Given the description of an element on the screen output the (x, y) to click on. 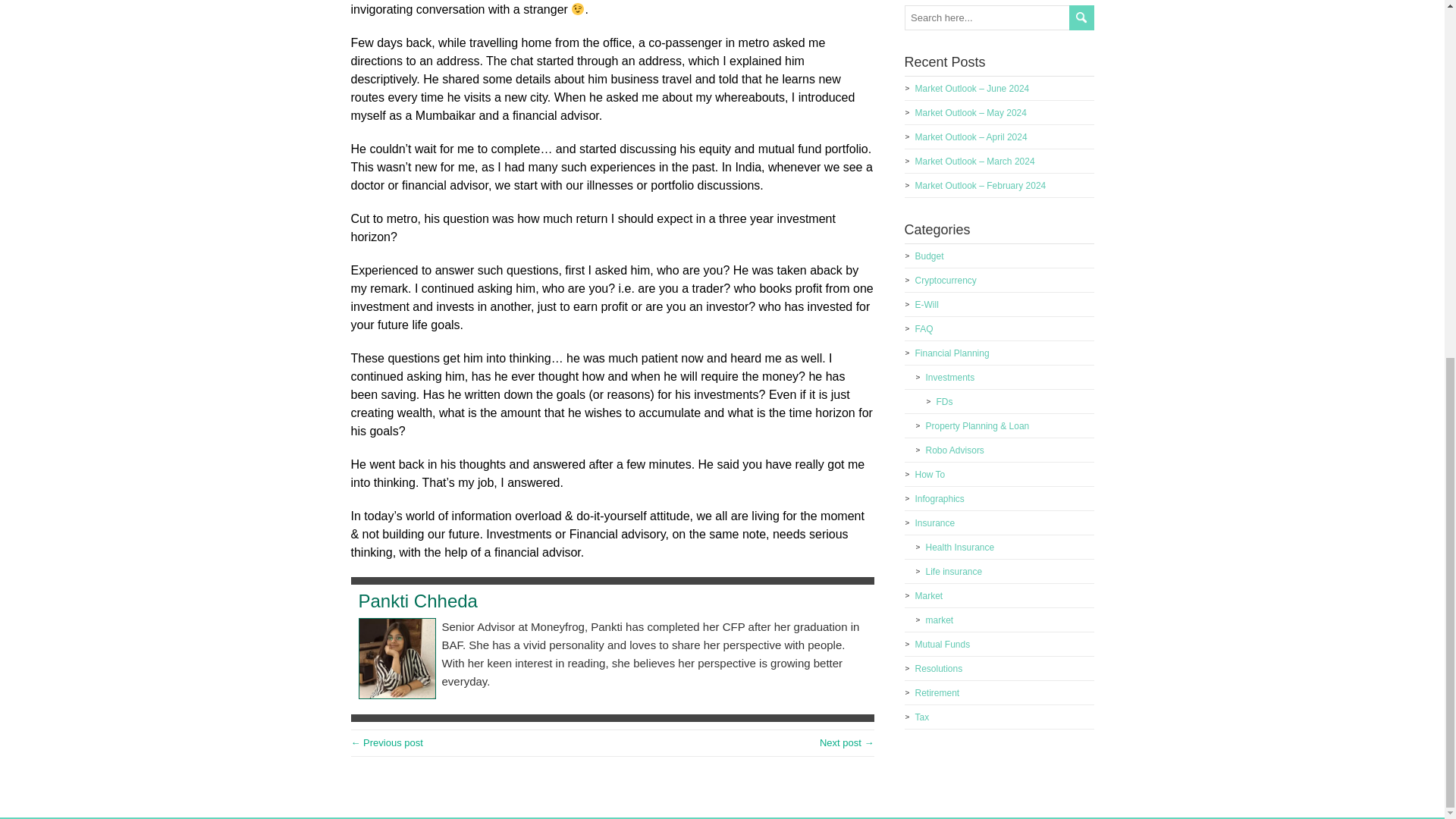
Pankti Chheda (417, 600)
Investments (949, 377)
Financial Planning (951, 353)
E-Will (925, 304)
Insurance (934, 522)
Life insurance (952, 571)
Robo Advisors (954, 450)
How To (929, 474)
Budget (928, 255)
FAQ (923, 328)
Health Insurance (959, 547)
Pankti Chheda (417, 600)
Infographics (938, 498)
FDs (944, 401)
Reverse EMI (847, 742)
